Given the description of an element on the screen output the (x, y) to click on. 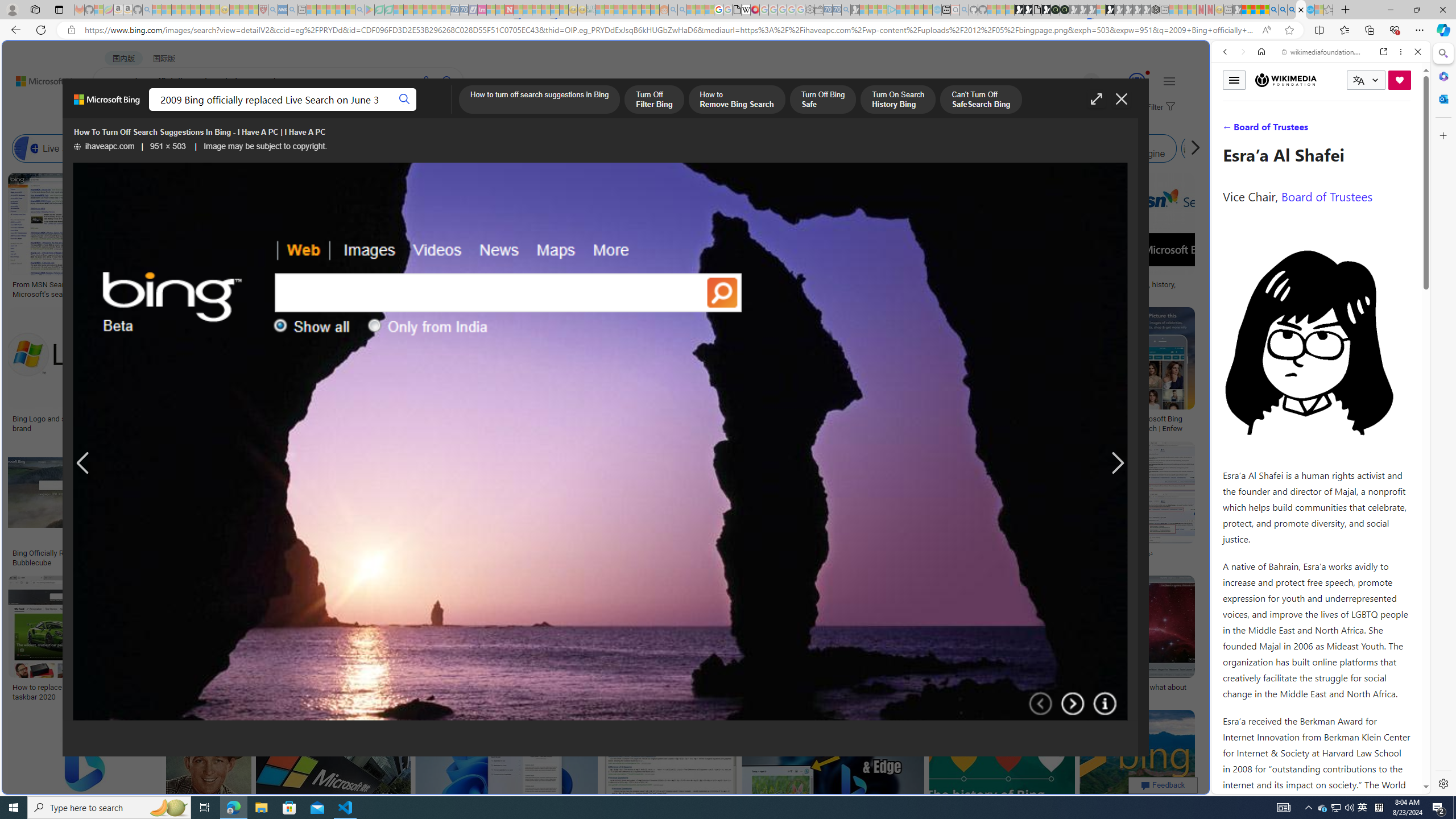
Search Filter, IMAGES (1262, 129)
Close Customize pane (1442, 135)
Wikimedia Foundation (1285, 79)
WEB (114, 111)
Bing Logo, symbol, meaning, history, PNG, brandSave (1123, 237)
Close split screen (1208, 57)
Bing Voice Search (121, 148)
Jobs - lastminute.com Investor Portal - Sleeping (482, 9)
